Given the description of an element on the screen output the (x, y) to click on. 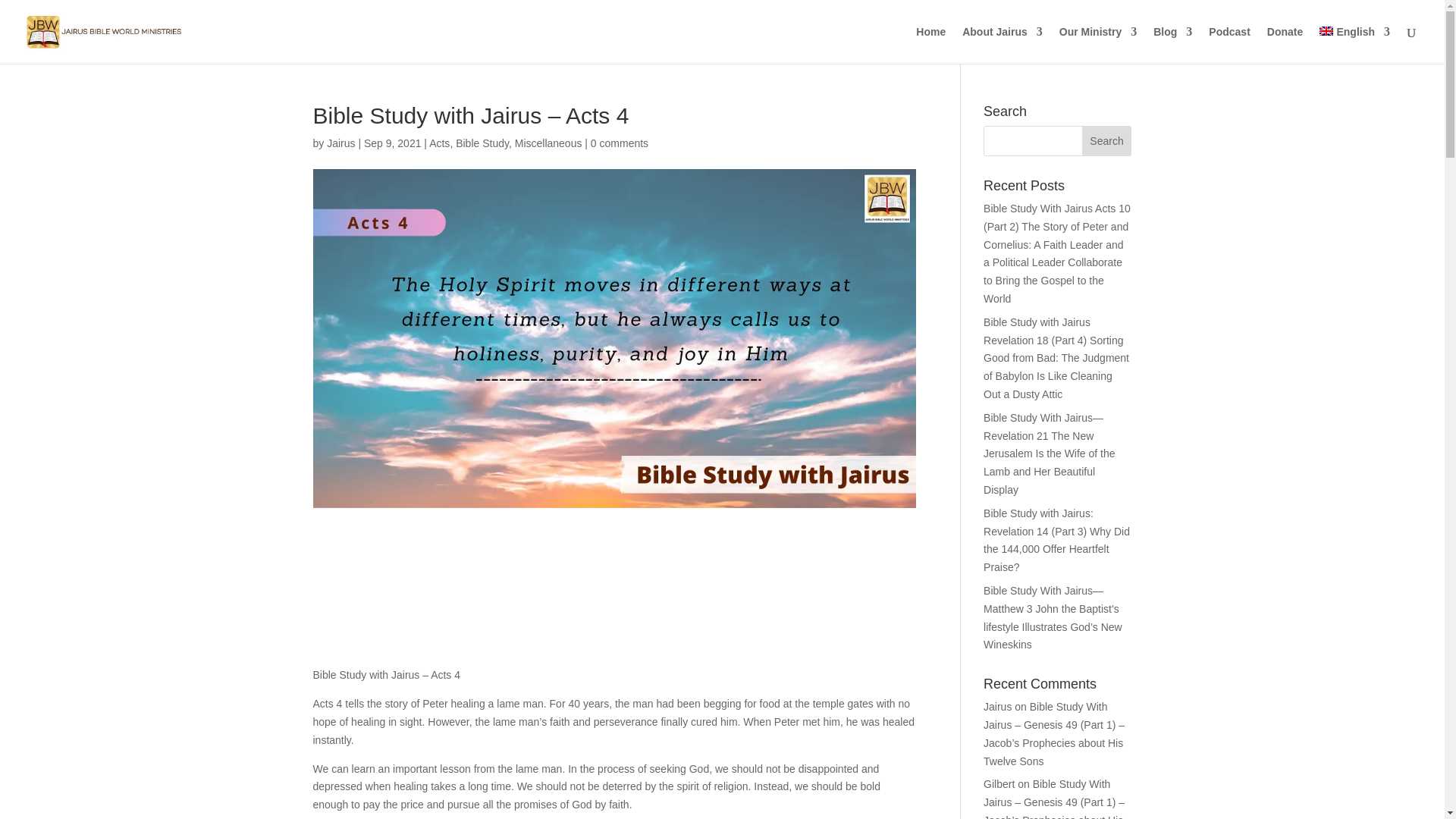
English (1354, 44)
Our Ministry (1098, 44)
About Jairus (1002, 44)
Donate (1284, 44)
Blog (1172, 44)
Posts by Jairus (340, 143)
Podcast (1228, 44)
English (1354, 44)
Search (1106, 141)
